Given the description of an element on the screen output the (x, y) to click on. 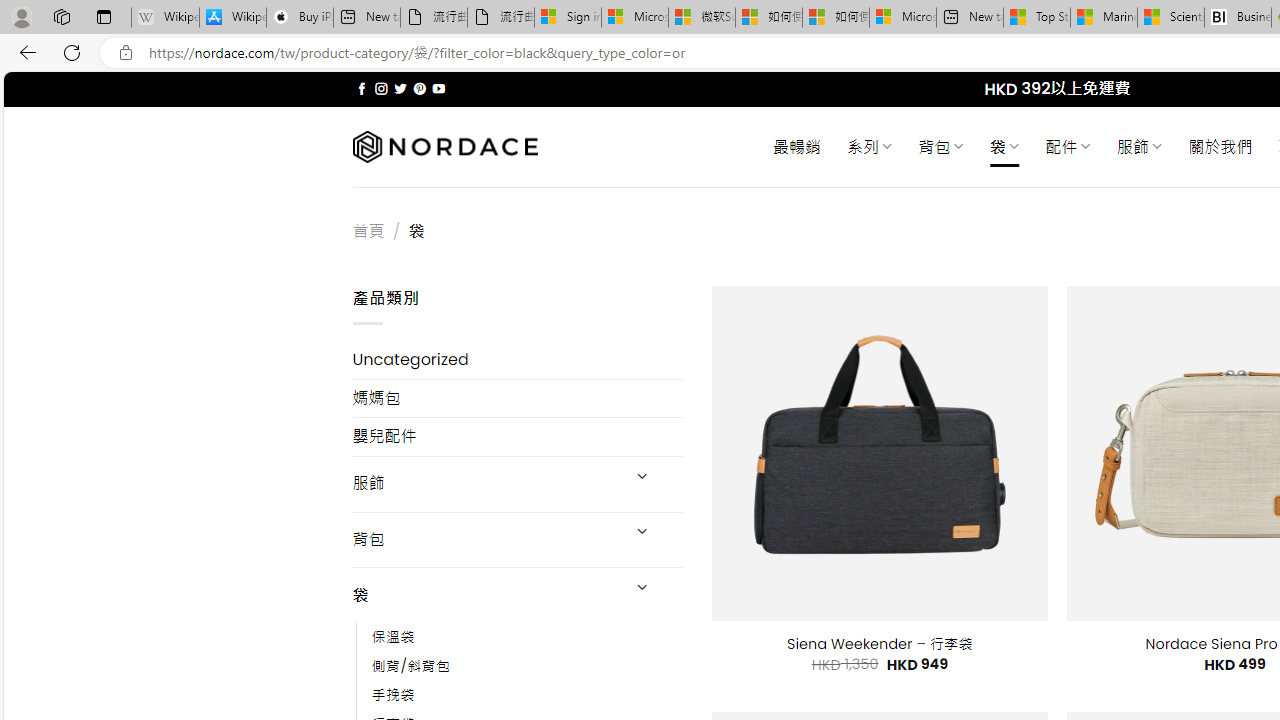
Follow on Instagram (381, 88)
Top Stories - MSN (1036, 17)
Uncategorized (517, 359)
